Given the description of an element on the screen output the (x, y) to click on. 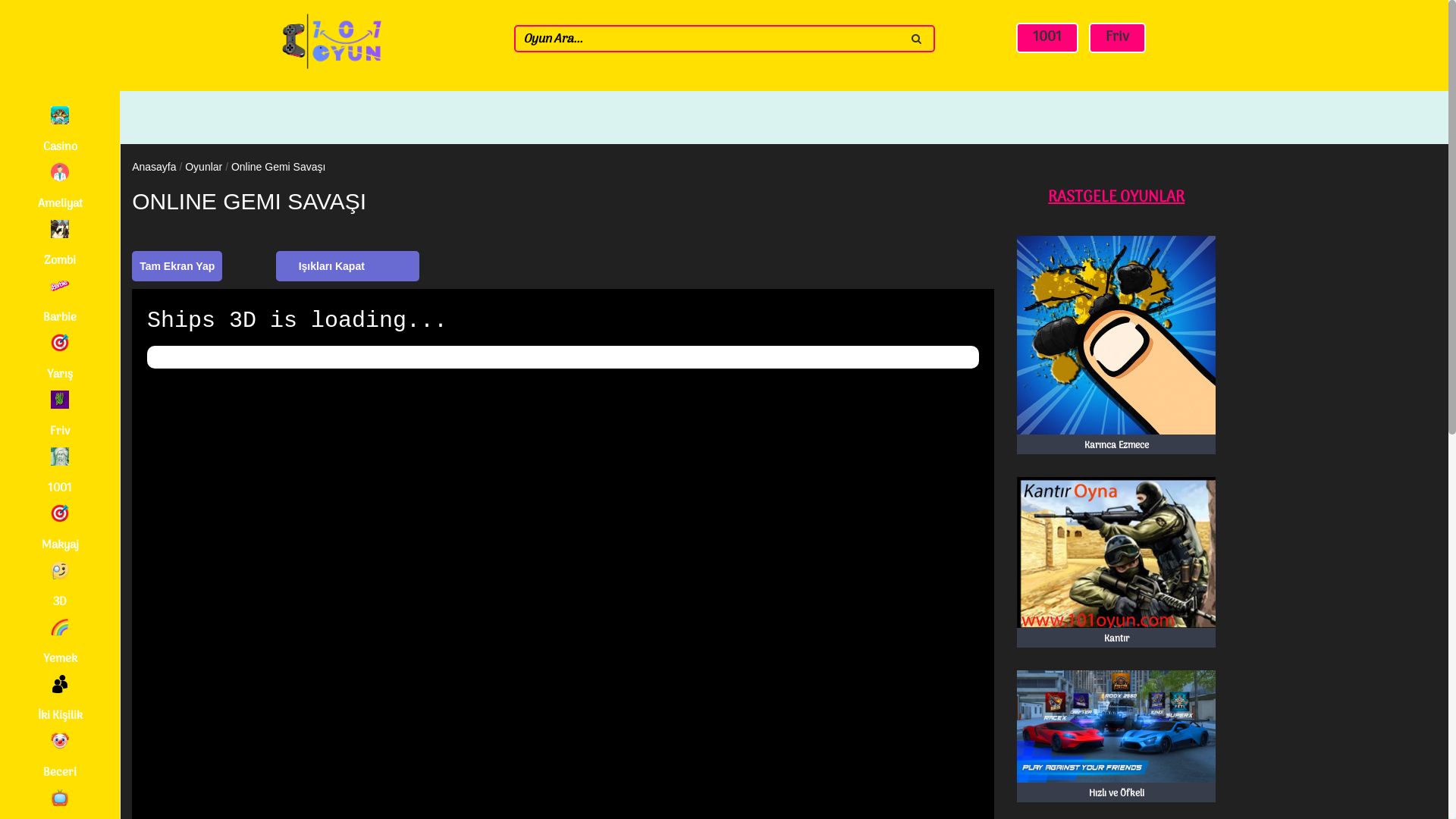
Casino Element type: text (59, 131)
Yemek Element type: text (59, 643)
Anasayfa Element type: text (153, 166)
3D Element type: text (59, 586)
Friv Element type: text (1116, 37)
Friv Element type: text (1117, 37)
Advertisement Element type: hover (1337, 371)
1001 Element type: text (59, 472)
1001 Element type: text (1047, 37)
Ameliyat Element type: text (59, 188)
1001 Element type: text (1046, 37)
Makyaj Element type: text (59, 529)
Barbie Element type: text (59, 301)
Oyunlar Element type: text (203, 166)
Friv Element type: text (59, 415)
Beceri Element type: text (59, 756)
Zombi Element type: text (59, 244)
Tam Ekran Yap Element type: text (176, 266)
